Given the description of an element on the screen output the (x, y) to click on. 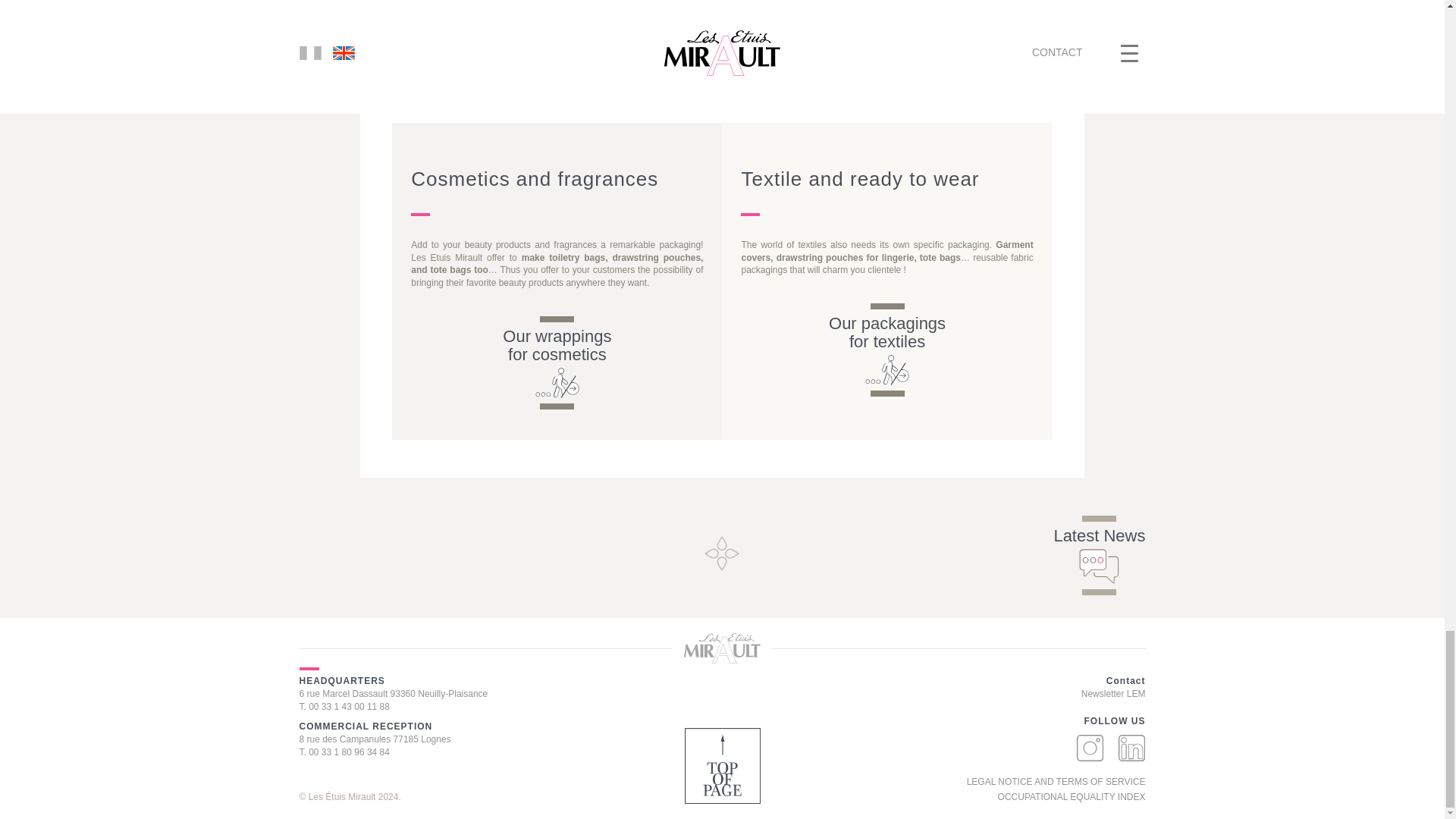
Newsletter LEM (1113, 693)
Latest News (1098, 536)
Textile and ready to wear (886, 332)
Cosmetics and fragrances (556, 345)
